Given the description of an element on the screen output the (x, y) to click on. 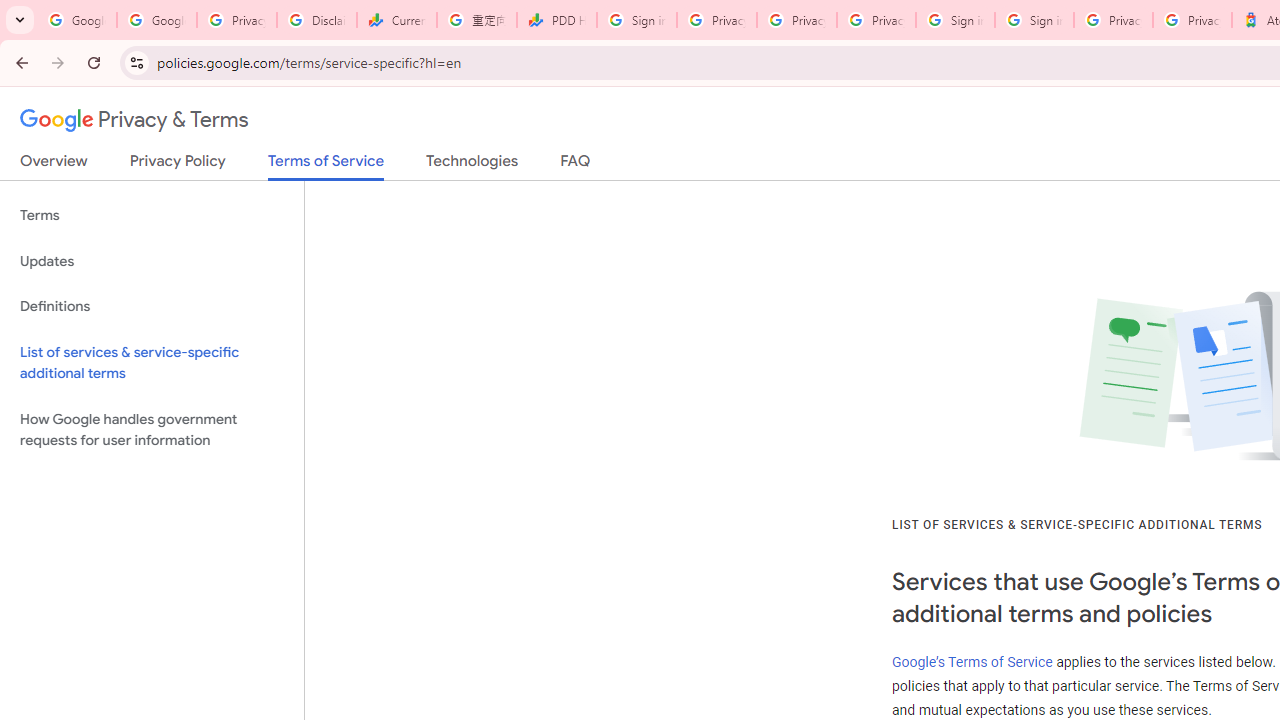
Privacy Checkup (876, 20)
Sign in - Google Accounts (1033, 20)
Sign in - Google Accounts (955, 20)
How Google handles government requests for user information (152, 429)
Definitions (152, 306)
Sign in - Google Accounts (636, 20)
PDD Holdings Inc - ADR (PDD) Price & News - Google Finance (556, 20)
Google Workspace Admin Community (76, 20)
